Given the description of an element on the screen output the (x, y) to click on. 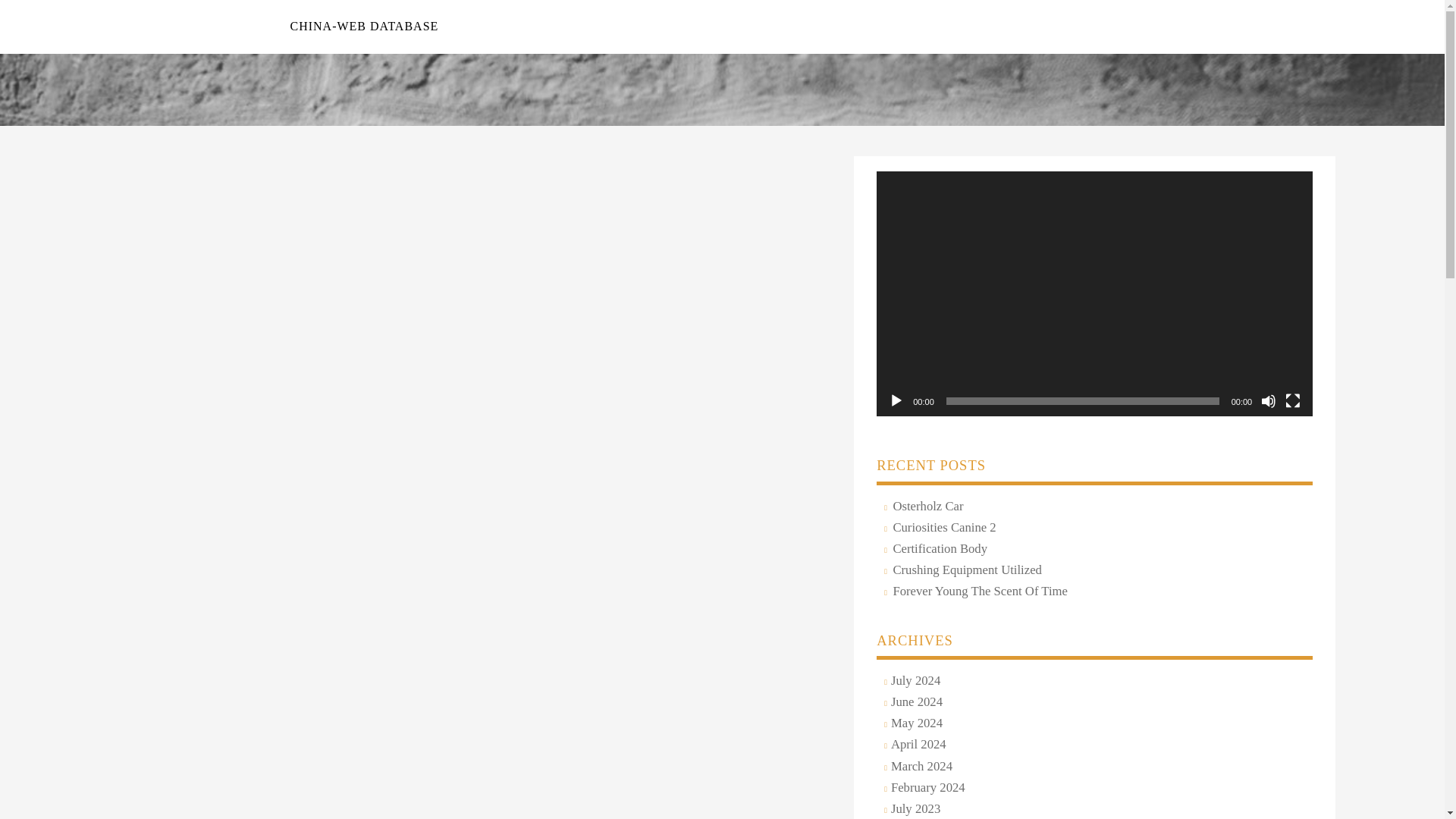
March 2024 (919, 767)
Fullscreen (1292, 400)
Osterholz Car (925, 506)
April 2024 (916, 745)
Certification Body (937, 549)
July 2024 (913, 681)
June 2024 (914, 702)
July 2023 (913, 809)
Curiosities Canine 2 (941, 528)
Mute (1268, 400)
